Given the description of an element on the screen output the (x, y) to click on. 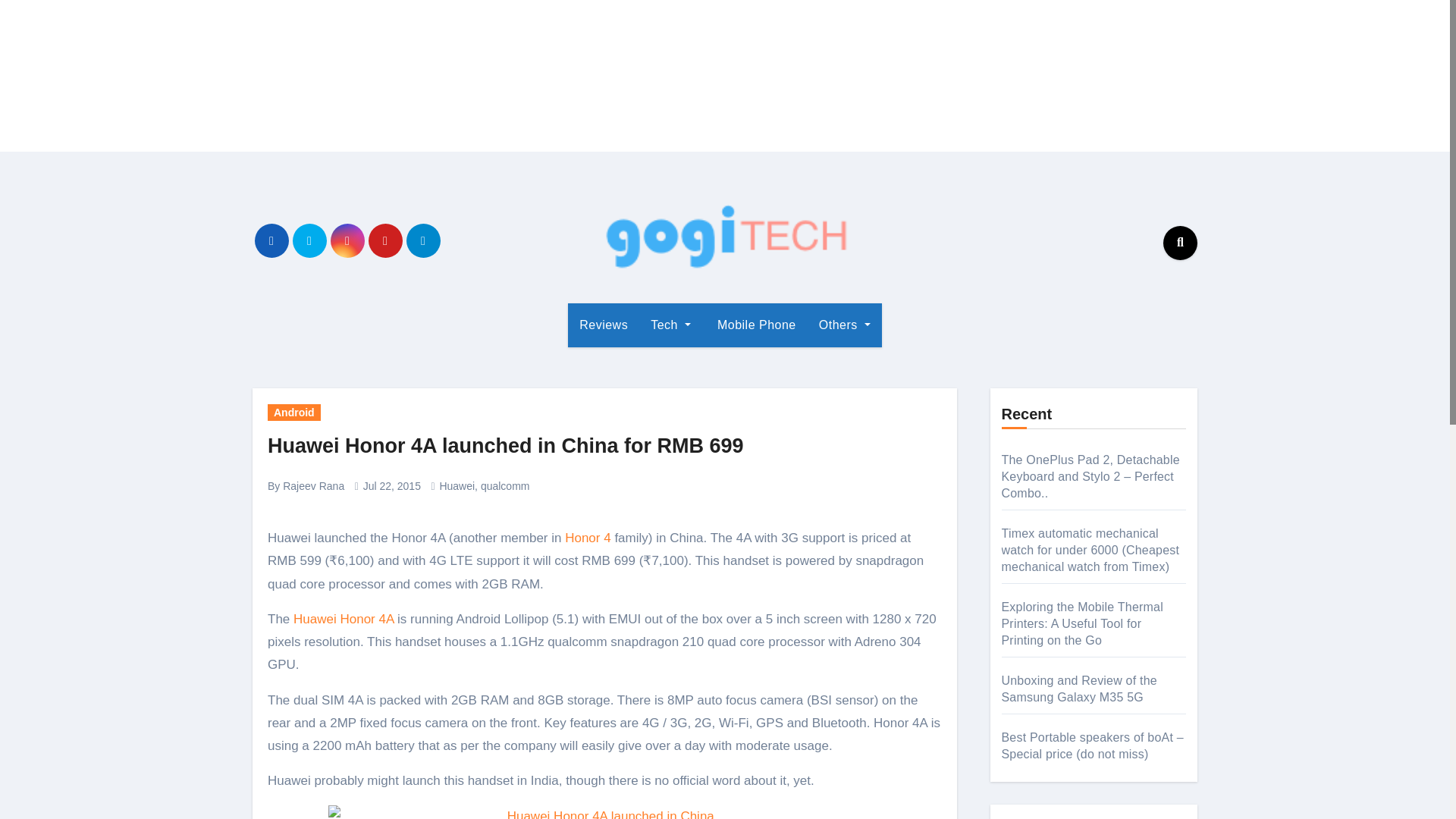
Reviews (603, 325)
Huawei Honor 4A launched in China (604, 812)
By Rajeev Rana (305, 485)
Mobile Phone Section (754, 325)
 Mobile Phone (754, 325)
Others (845, 325)
Permalink to: Huawei Honor 4A launched in China for RMB 699 (505, 445)
Huawei Honor 4A launched in China for RMB 699 (505, 445)
Reviews (603, 325)
Tech (670, 325)
Android (293, 412)
Others (845, 325)
Tech (670, 325)
